Given the description of an element on the screen output the (x, y) to click on. 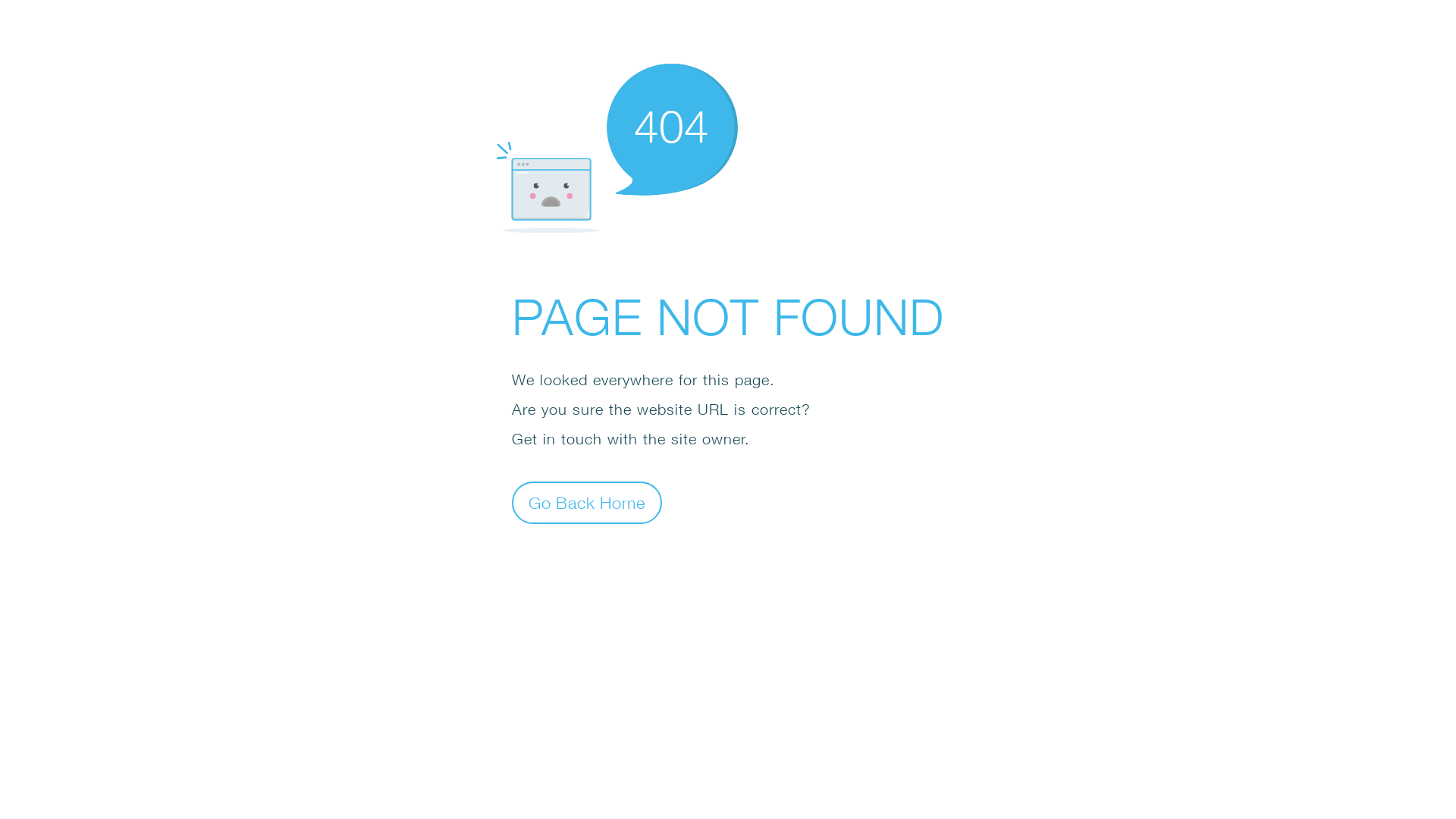
Go Back Home Element type: text (586, 502)
